Given the description of an element on the screen output the (x, y) to click on. 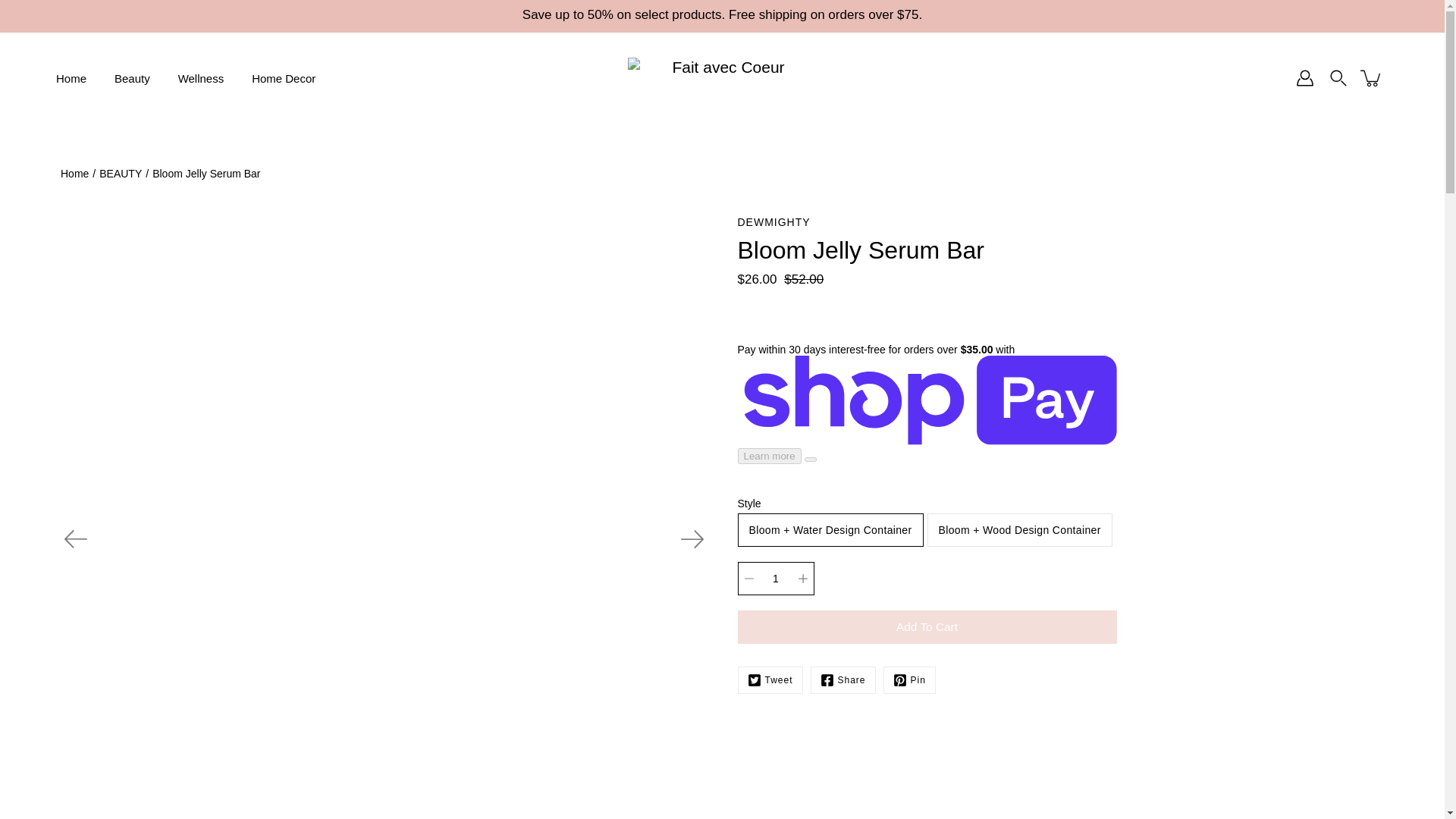
BEAUTY (120, 173)
Back to the Homepage (74, 173)
Home Decor (283, 76)
Wellness (200, 76)
1 (774, 578)
Home (74, 173)
Twitter (769, 679)
Beauty (132, 76)
Pinterest (909, 679)
Home (70, 76)
Facebook (843, 679)
